Given the description of an element on the screen output the (x, y) to click on. 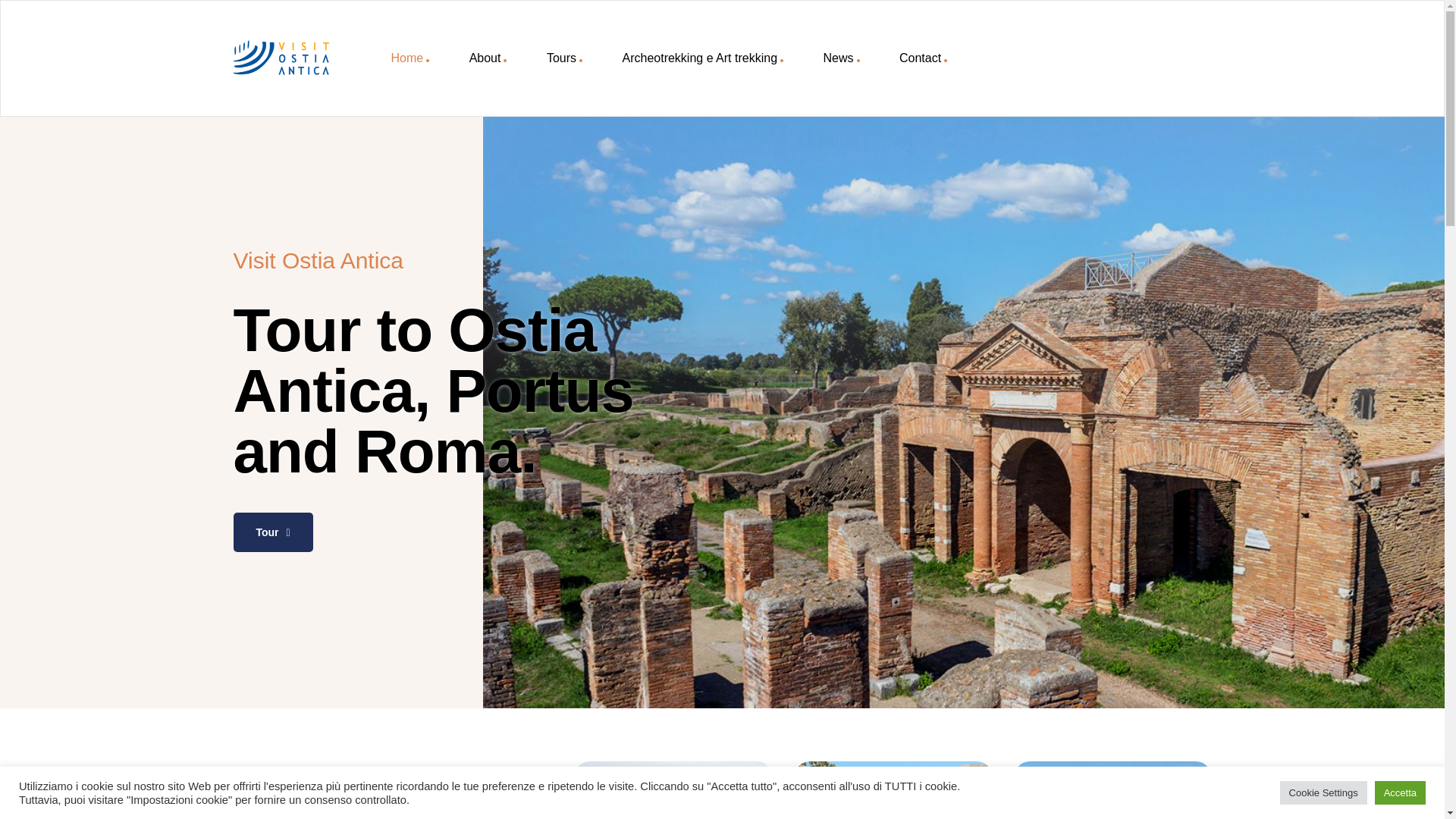
Cookie Settings (1323, 792)
Contact (922, 58)
About (488, 58)
Tours (563, 58)
Archeotrekking e Art trekking (892, 790)
News (673, 790)
Accetta (1112, 790)
Home (703, 58)
Tour (841, 58)
